Given the description of an element on the screen output the (x, y) to click on. 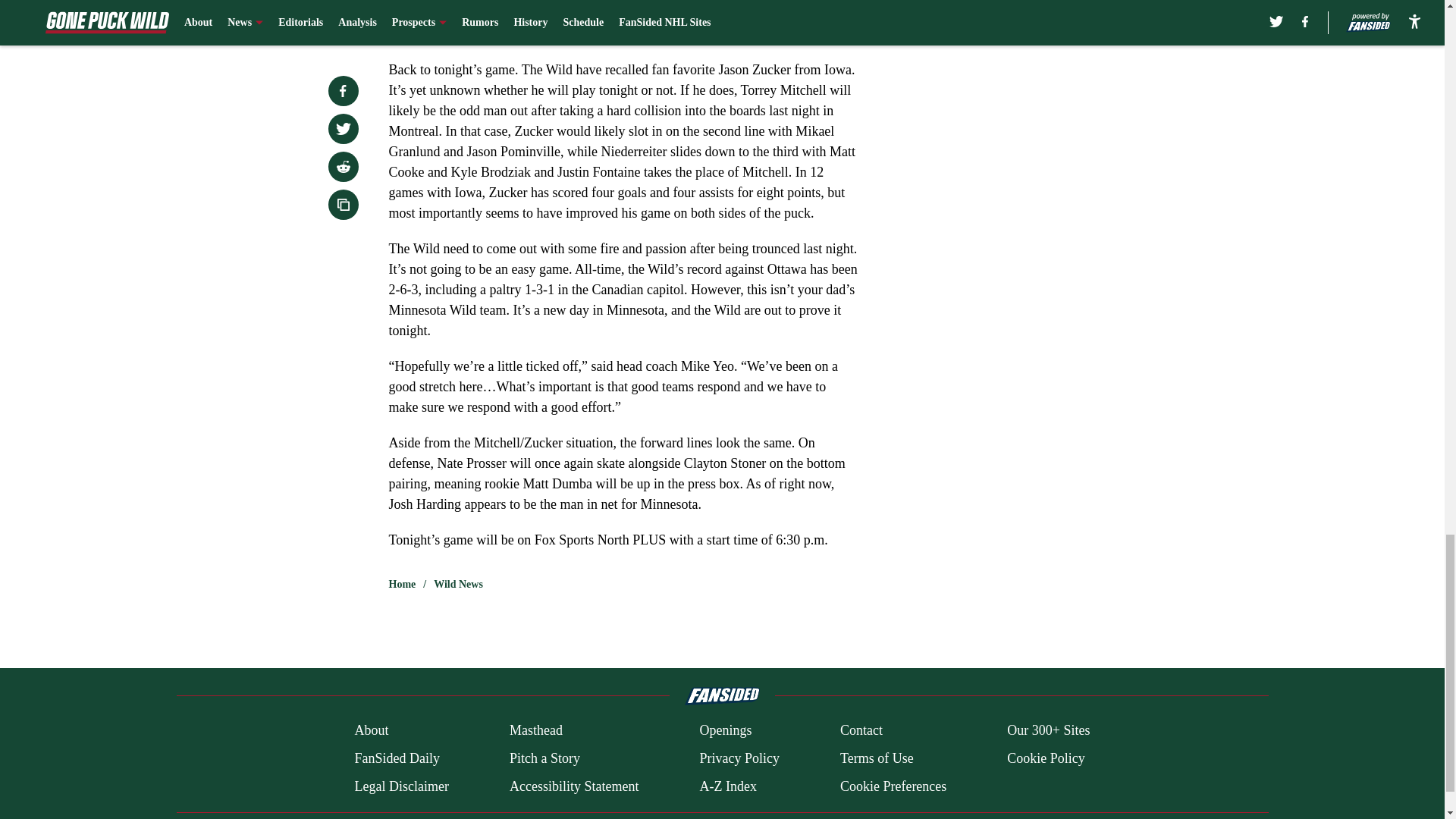
Terms of Use (877, 758)
Masthead (535, 730)
Legal Disclaimer (400, 786)
Home (401, 584)
Openings (724, 730)
Accessibility Statement (574, 786)
Cookie Policy (1045, 758)
A-Z Index (726, 786)
Cookie Preferences (893, 786)
Contact (861, 730)
FanSided Daily (396, 758)
About (370, 730)
Wild News (458, 584)
Privacy Policy (738, 758)
Pitch a Story (544, 758)
